Given the description of an element on the screen output the (x, y) to click on. 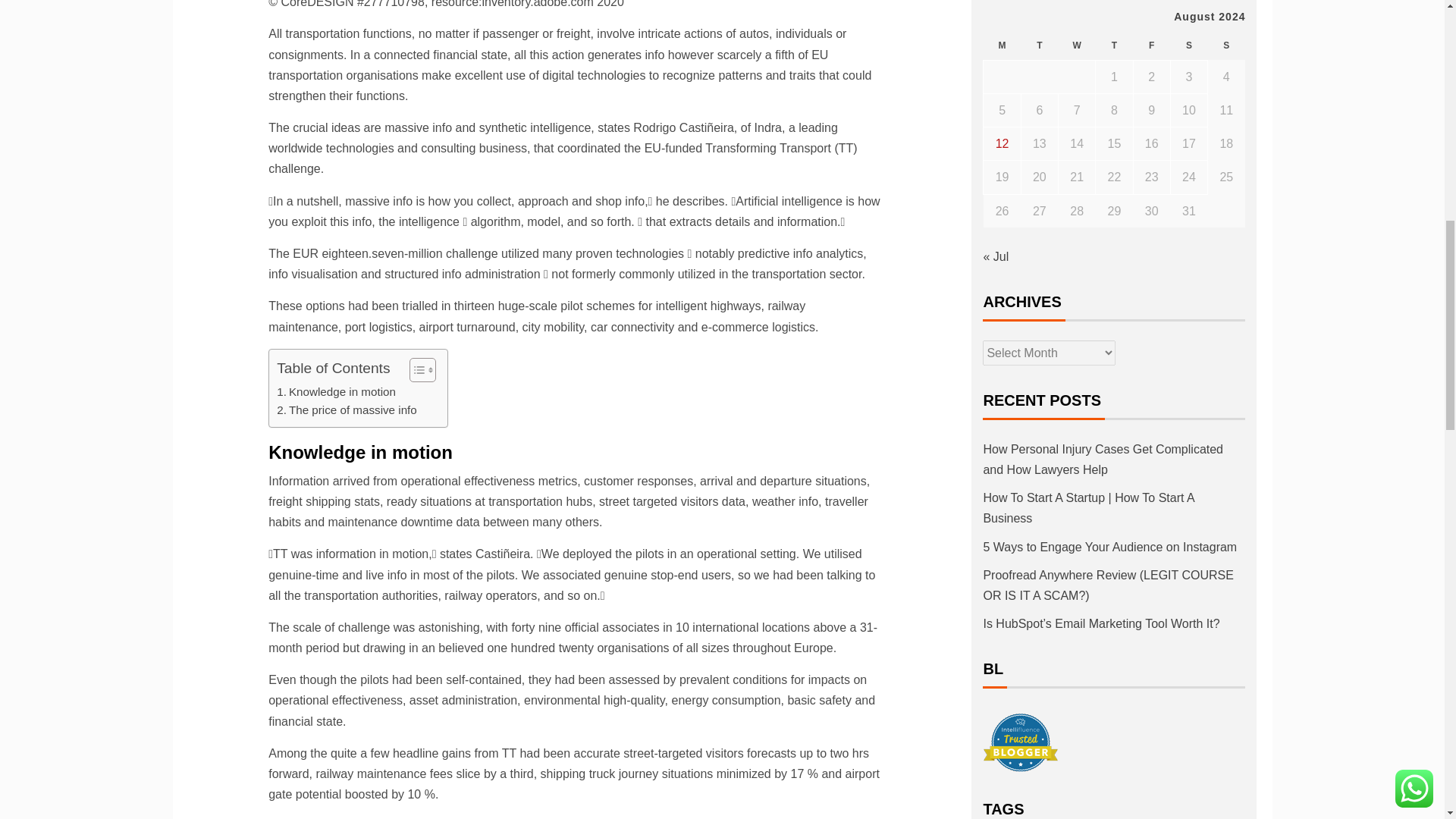
The price of massive info (346, 410)
Knowledge in motion (336, 392)
Knowledge in motion (336, 392)
The price of massive info (346, 410)
